Given the description of an element on the screen output the (x, y) to click on. 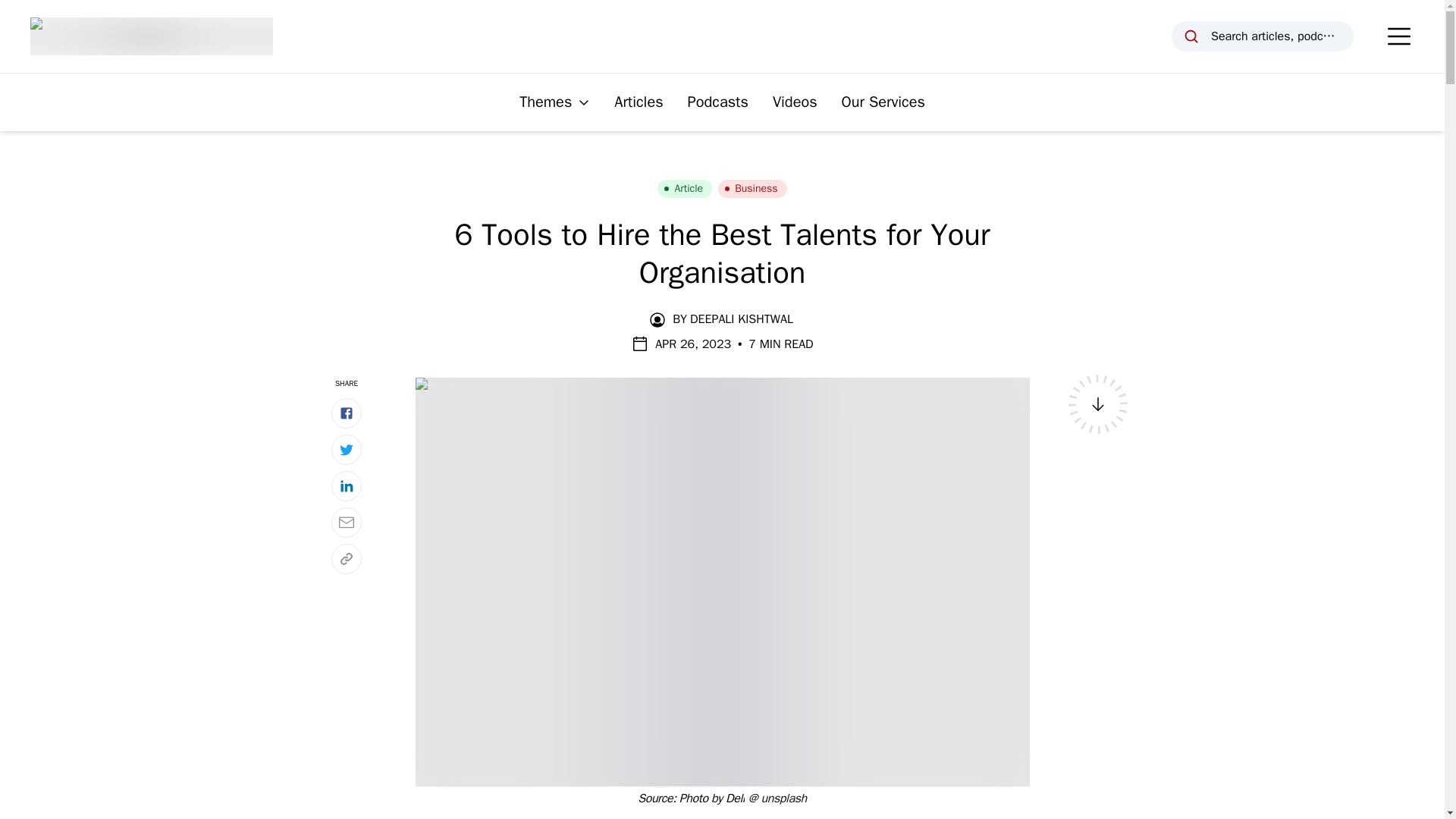
Our Services (882, 102)
Themes (554, 102)
Article (684, 188)
Dell (734, 798)
DEEPALI KISHTWAL (741, 319)
Business (751, 188)
Search articles, podcasts, videos, resources, and authors. (1263, 36)
Podcasts (717, 102)
Open Sidebar Menu (1398, 36)
Articles (638, 102)
Videos (794, 102)
